Given the description of an element on the screen output the (x, y) to click on. 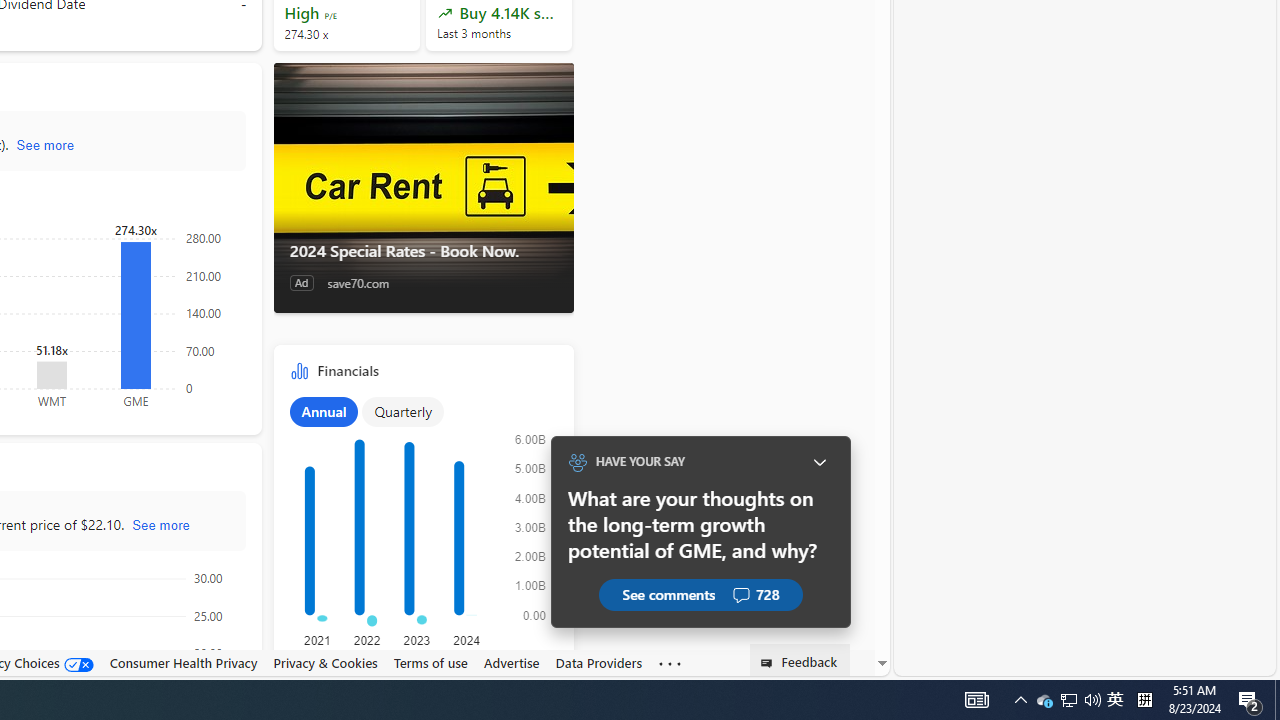
Data Providers (598, 663)
Class: oneFooter_seeMore-DS-EntryPoint1-1 (669, 663)
Class: feedback_link_icon-DS-EntryPoint1-1 (770, 663)
Terms of use (430, 663)
Class: chartSvg (419, 531)
Financials (423, 522)
Class: chartOuter-DS-EntryPoint1-1 (419, 533)
